Given the description of an element on the screen output the (x, y) to click on. 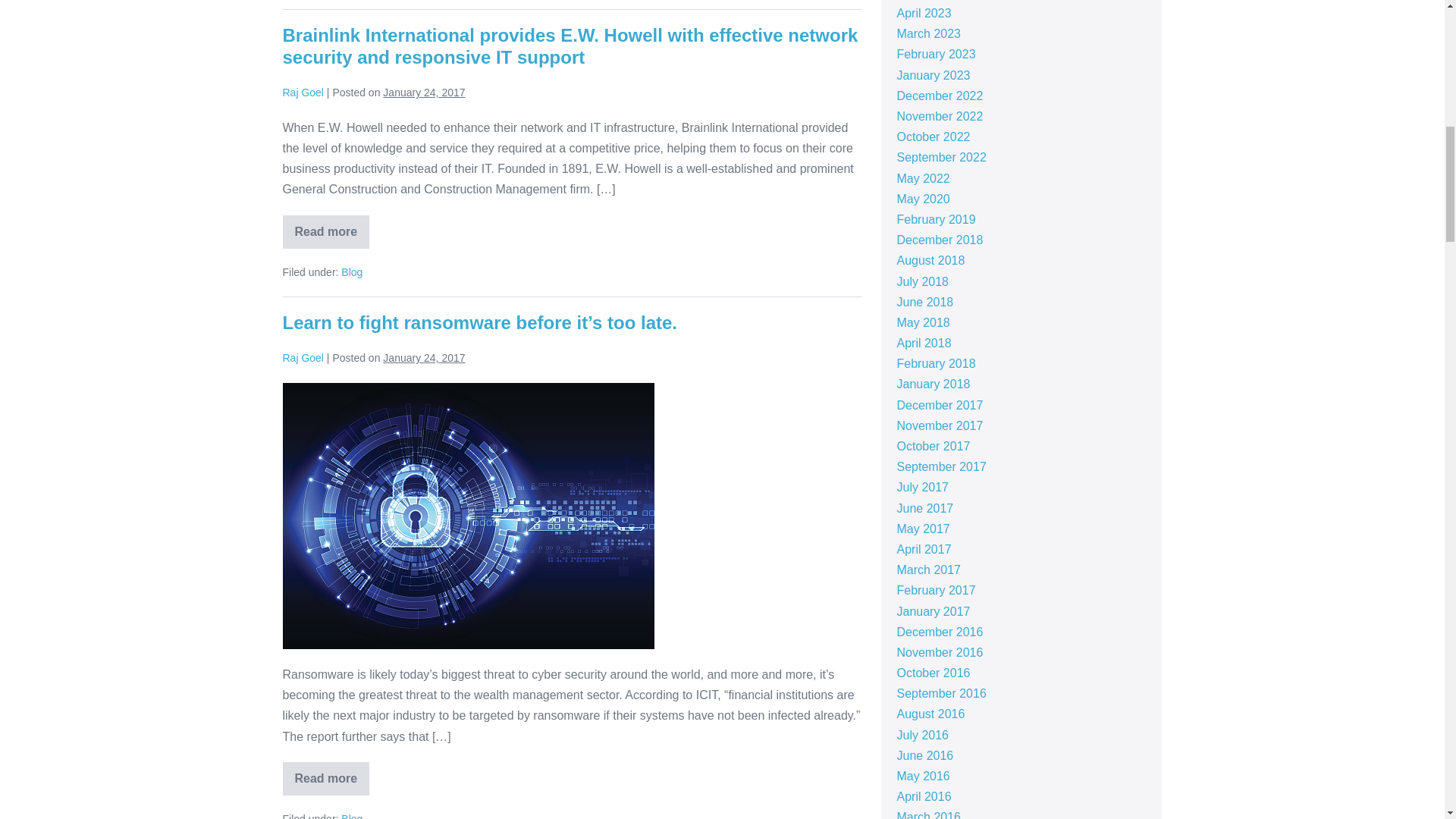
View all posts by Raj Goel (302, 357)
View all posts by Raj Goel (302, 92)
